Given the description of an element on the screen output the (x, y) to click on. 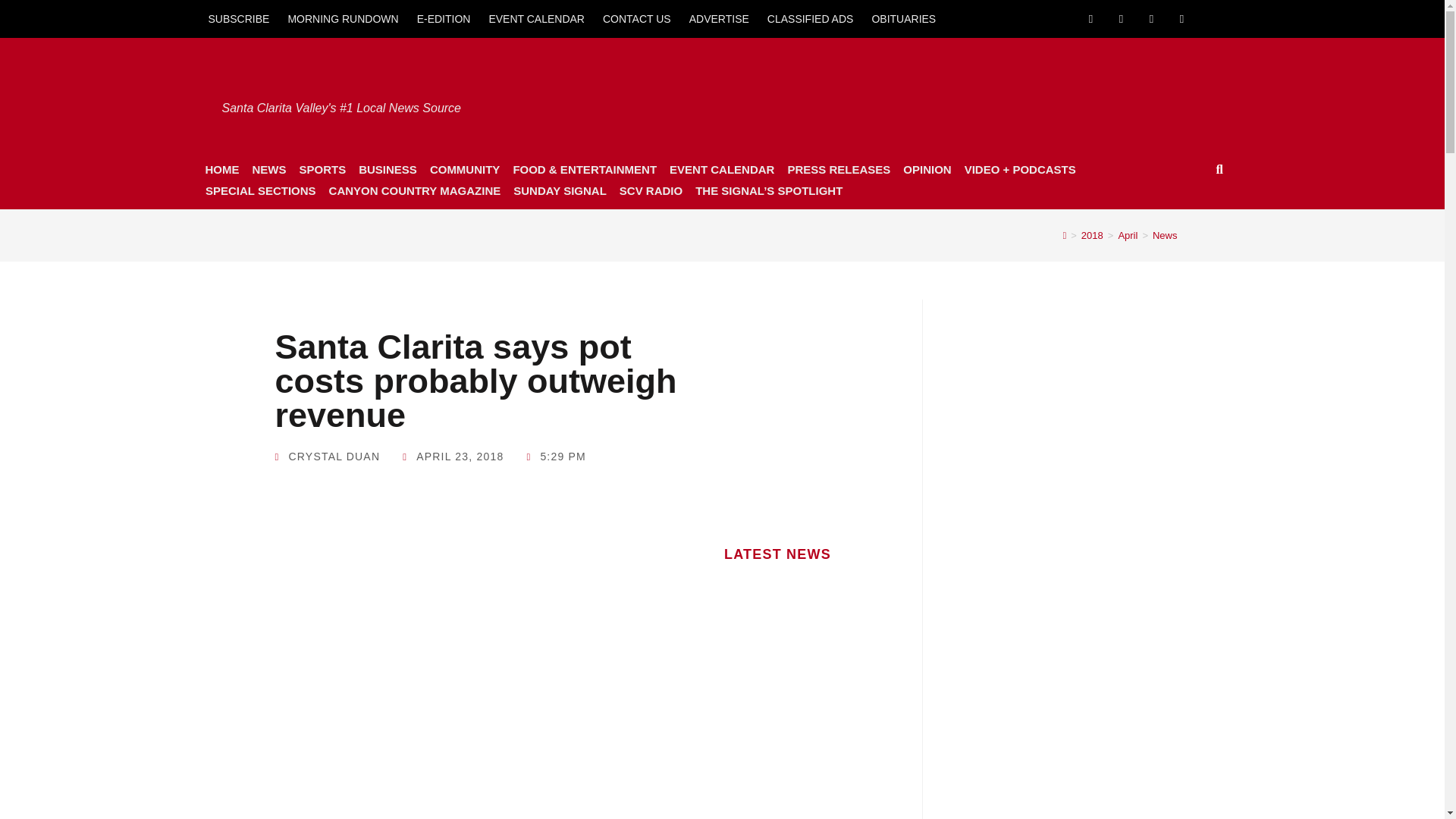
EVENT CALENDAR (536, 18)
OBITUARIES (902, 18)
SPORTS (322, 169)
CONTACT US (636, 18)
NEWS (269, 169)
SUBSCRIBE (238, 18)
ADVERTISE (718, 18)
CLASSIFIED ADS (810, 18)
HOME (221, 169)
E-EDITION (443, 18)
